Given the description of an element on the screen output the (x, y) to click on. 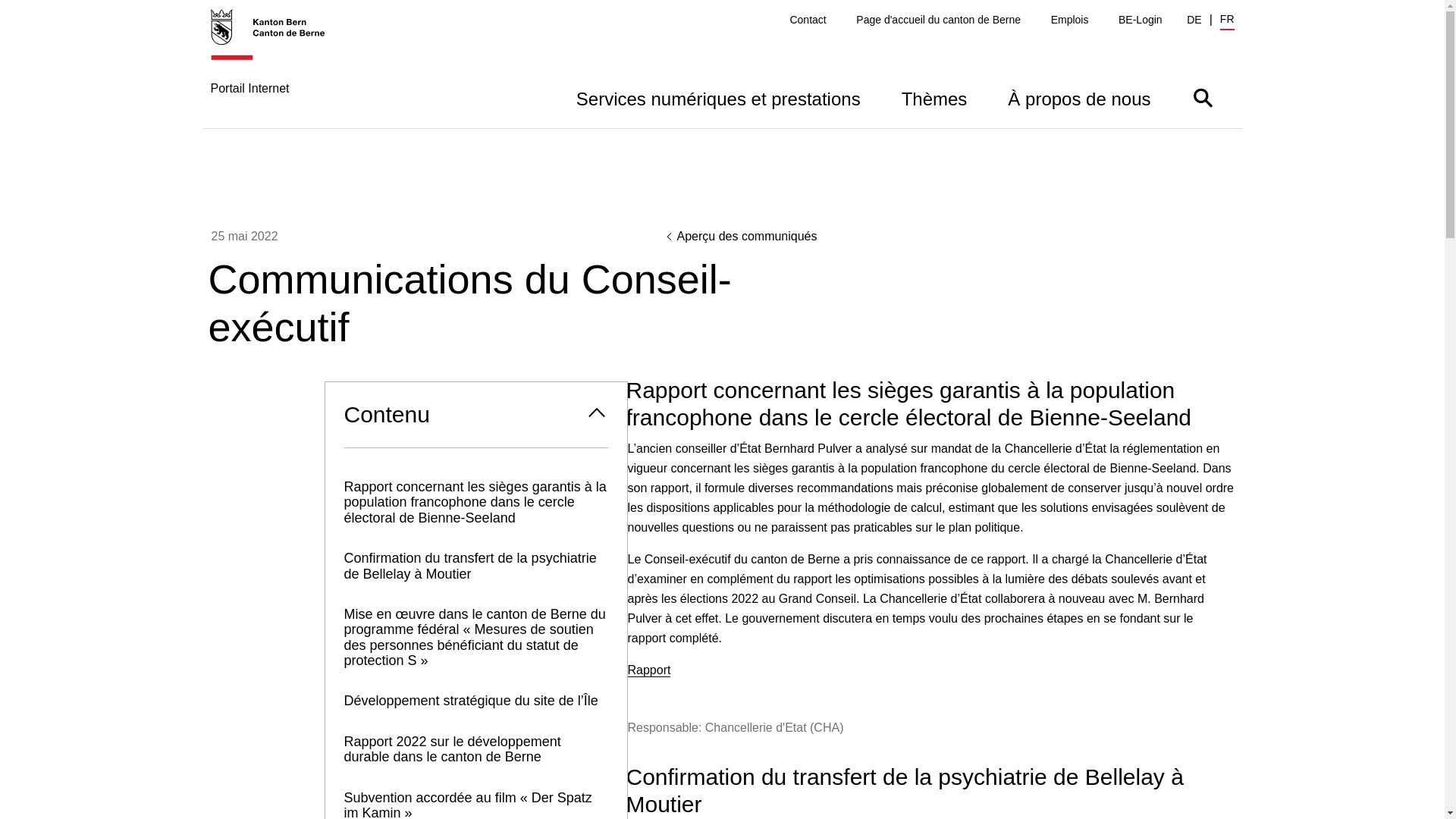
Afficher/masquer la barre de recherche Element type: text (1201, 96)
DE Element type: text (1193, 19)
Contact Element type: text (807, 19)
BE-Login Element type: text (1140, 19)
Portail Internet Element type: text (275, 68)
FR Element type: text (1227, 21)
Page d'accueil du canton de Berne Element type: text (938, 19)
Rapport Element type: text (649, 670)
Contenu Element type: text (475, 414)
Emplois Element type: text (1069, 19)
